Given the description of an element on the screen output the (x, y) to click on. 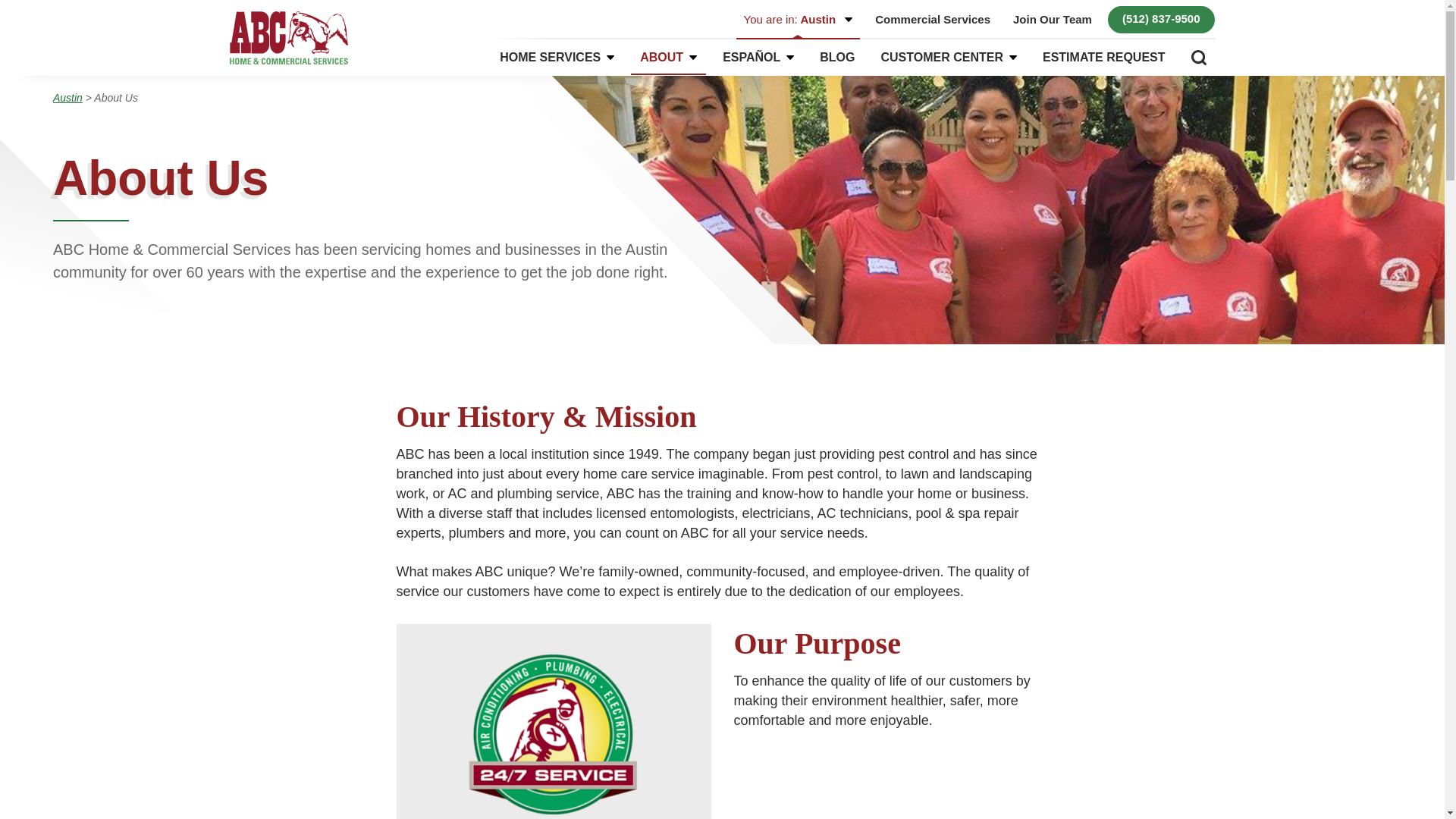
Commercial Services (932, 19)
Join Our Team (1052, 19)
ABOUT (668, 57)
Skip to main content (26, 26)
HOME SERVICES (556, 57)
You are in: Austin (798, 19)
